Given the description of an element on the screen output the (x, y) to click on. 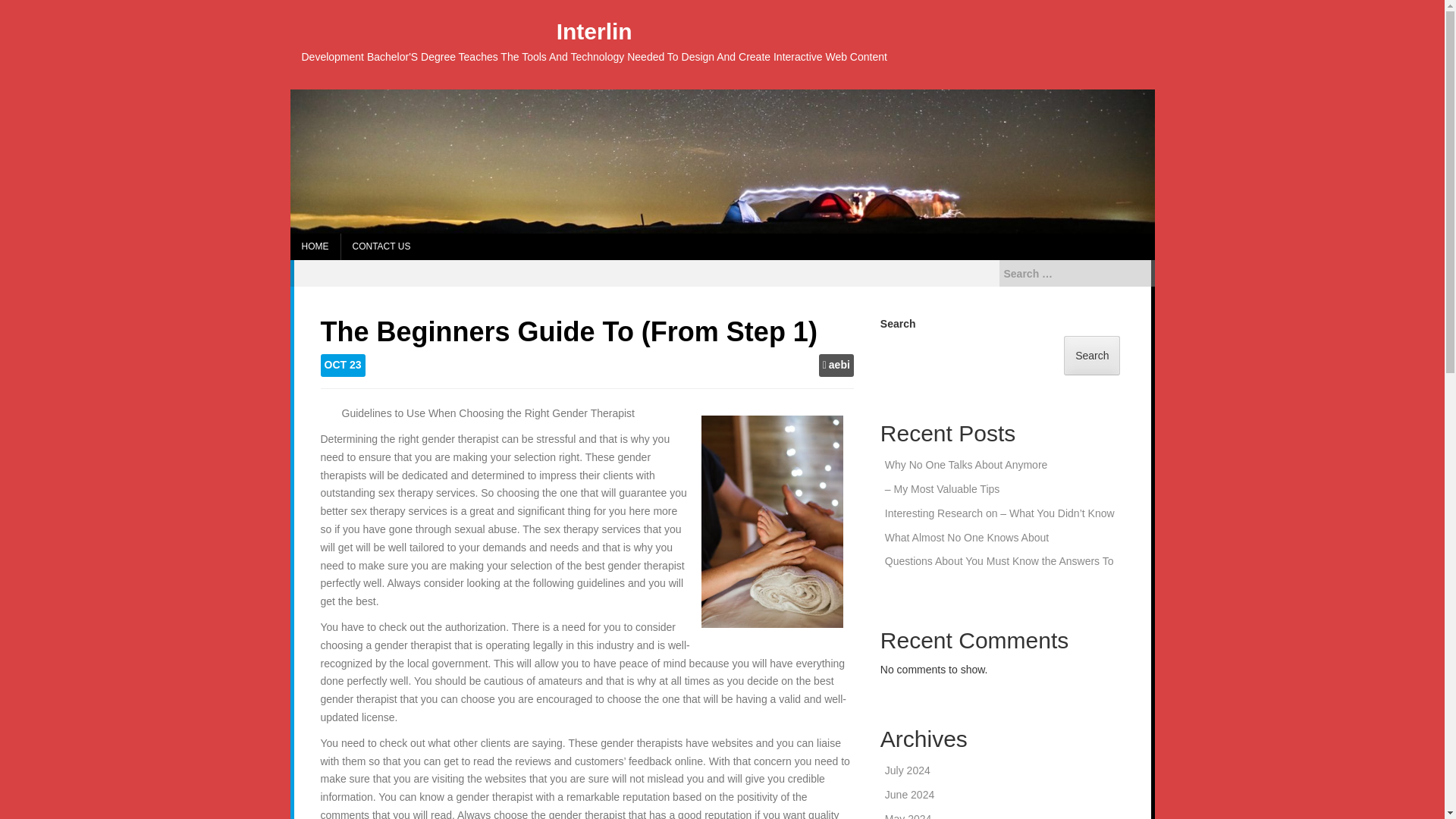
July 2024 (907, 770)
Why No One Talks About Anymore (966, 464)
CONTACT US (381, 246)
May 2024 (908, 816)
June 2024 (909, 794)
Search (1091, 355)
Search (24, 9)
What Almost No One Knows About (966, 536)
HOME (314, 246)
aebi (839, 365)
Questions About You Must Know the Answers To (999, 561)
Interlin (593, 31)
